Given the description of an element on the screen output the (x, y) to click on. 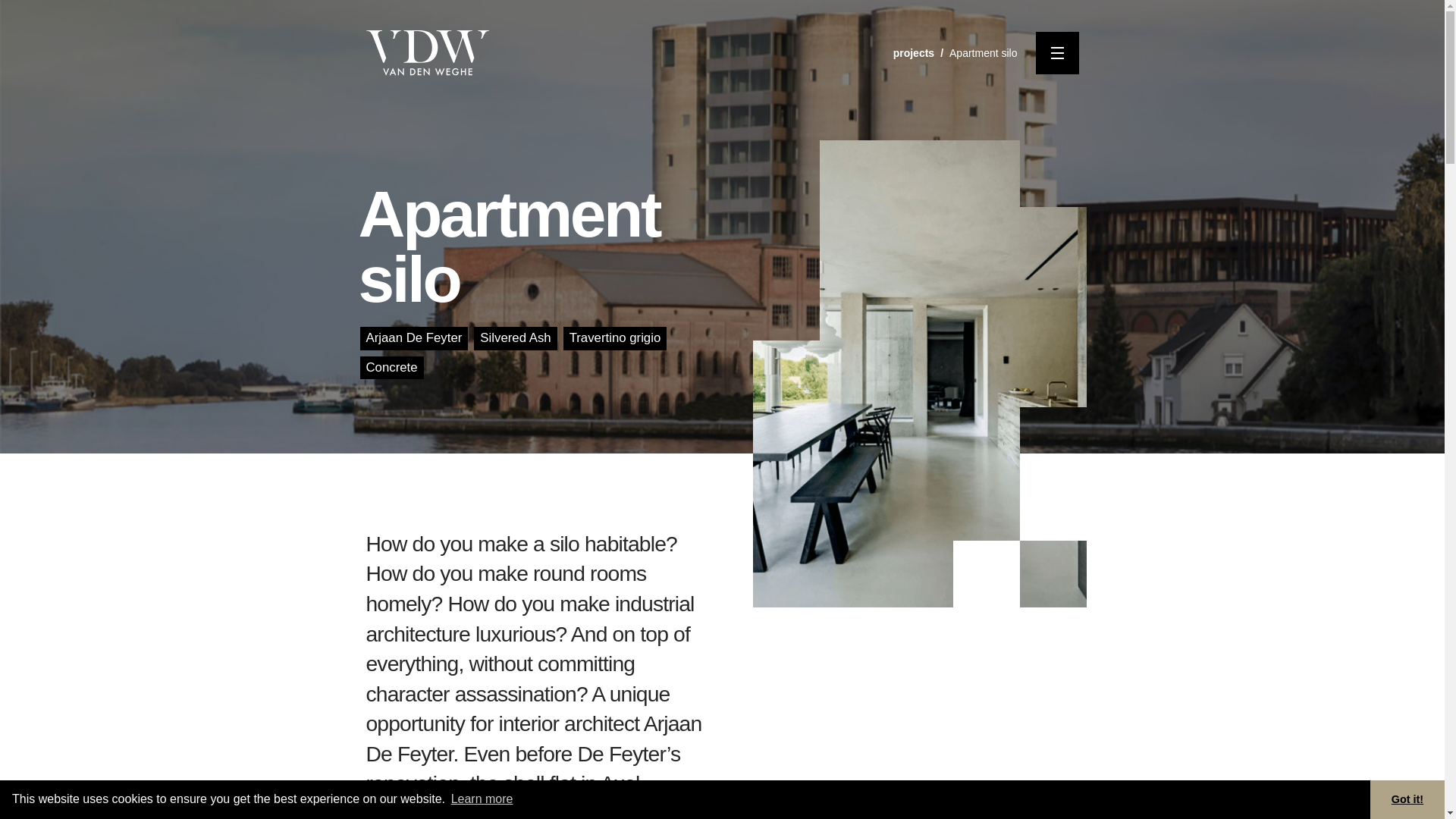
Learn more (481, 798)
projects (913, 51)
